Given the description of an element on the screen output the (x, y) to click on. 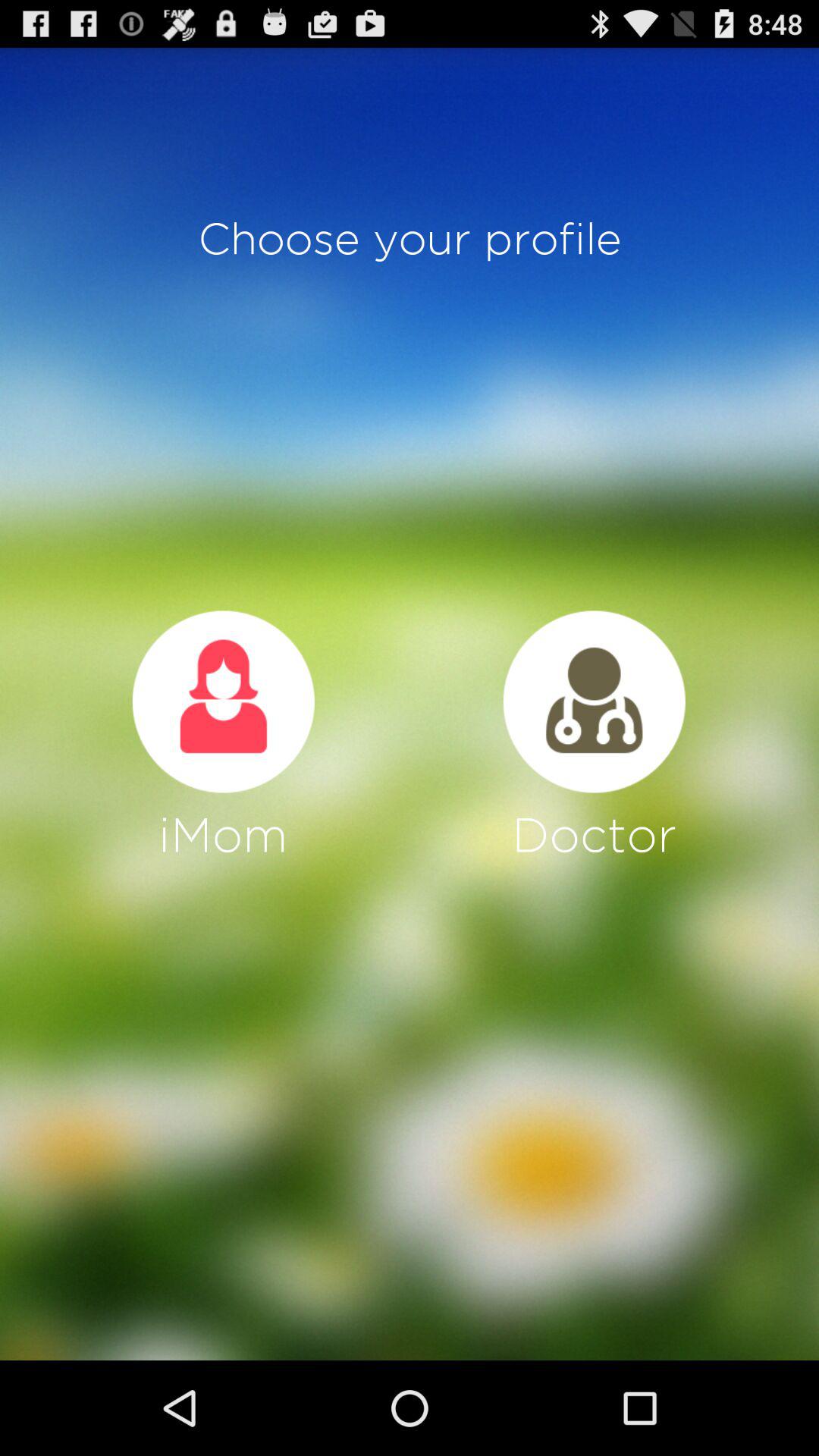
create doctor profile (594, 701)
